Given the description of an element on the screen output the (x, y) to click on. 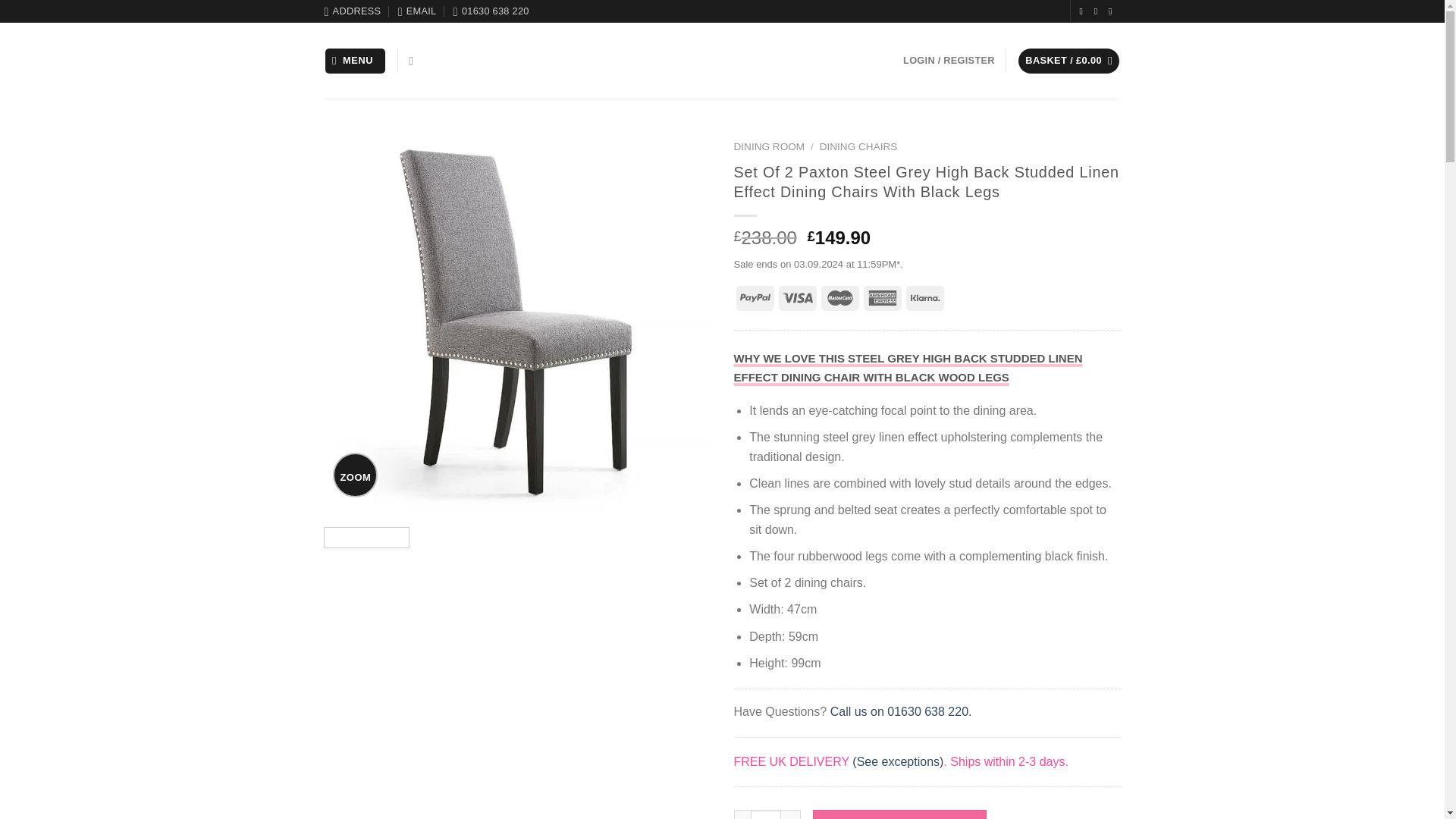
- (742, 814)
ADD TO BASKET (899, 814)
MENU (354, 60)
01630 638 220 (490, 11)
Call us on 01630 638 220. (900, 711)
DINING ROOM (769, 146)
Login (948, 60)
EMAIL (416, 11)
